Given the description of an element on the screen output the (x, y) to click on. 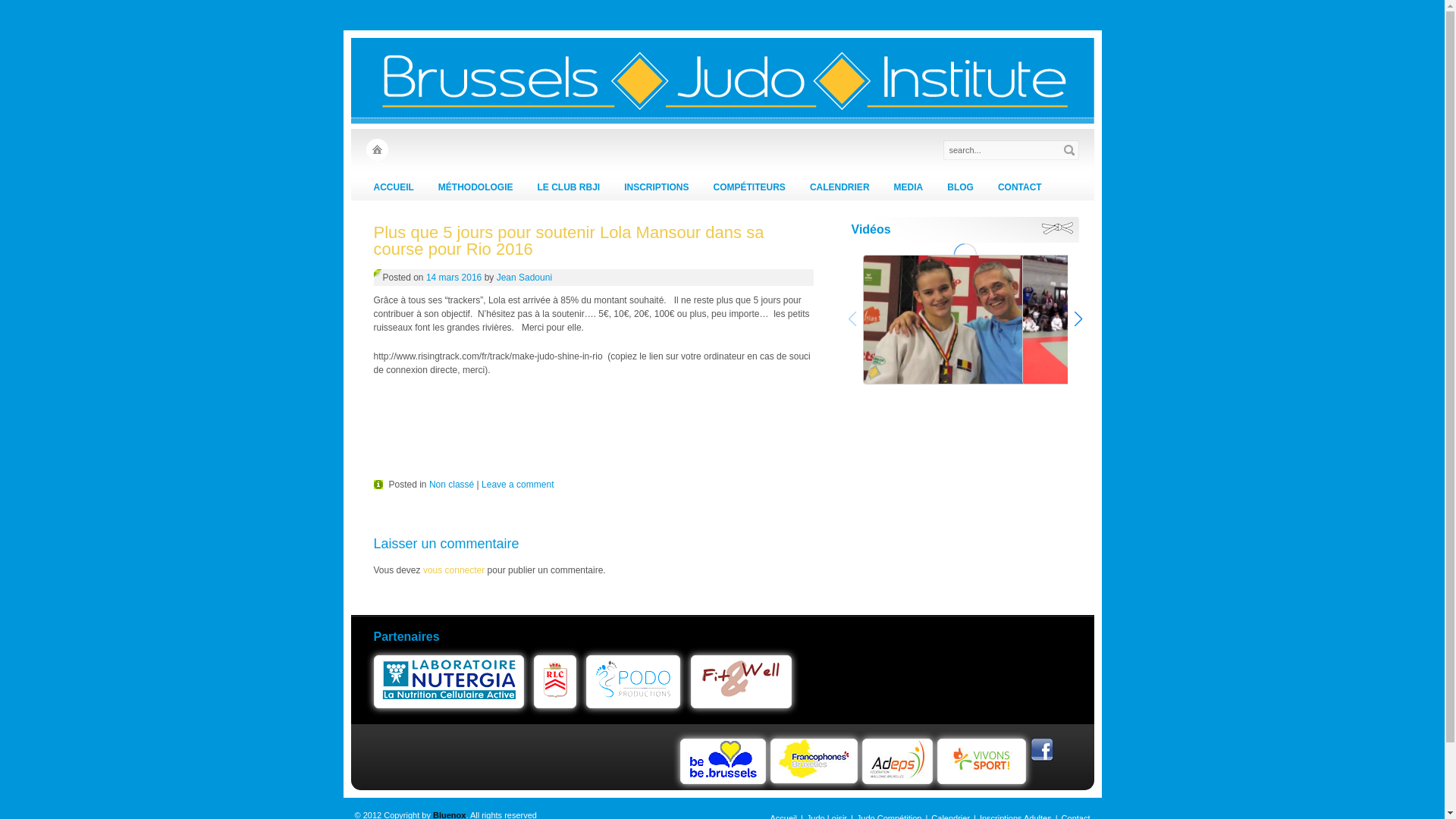
Jean Sadouni Element type: text (524, 277)
INSCRIPTIONS Element type: text (656, 187)
BLOG Element type: text (960, 187)
medium Element type: hover (1097, 319)
MEDIA Element type: text (908, 187)
CONTACT Element type: text (1019, 187)
medium Element type: hover (938, 319)
search... Element type: text (1002, 150)
14 mars 2016 Element type: text (453, 277)
Rechercher Element type: text (1069, 150)
CALENDRIER Element type: text (839, 187)
vous connecter Element type: text (453, 569)
LE CLUB RBJI Element type: text (568, 187)
ACCUEIL Element type: text (393, 187)
Leave a comment Element type: text (517, 484)
